Given the description of an element on the screen output the (x, y) to click on. 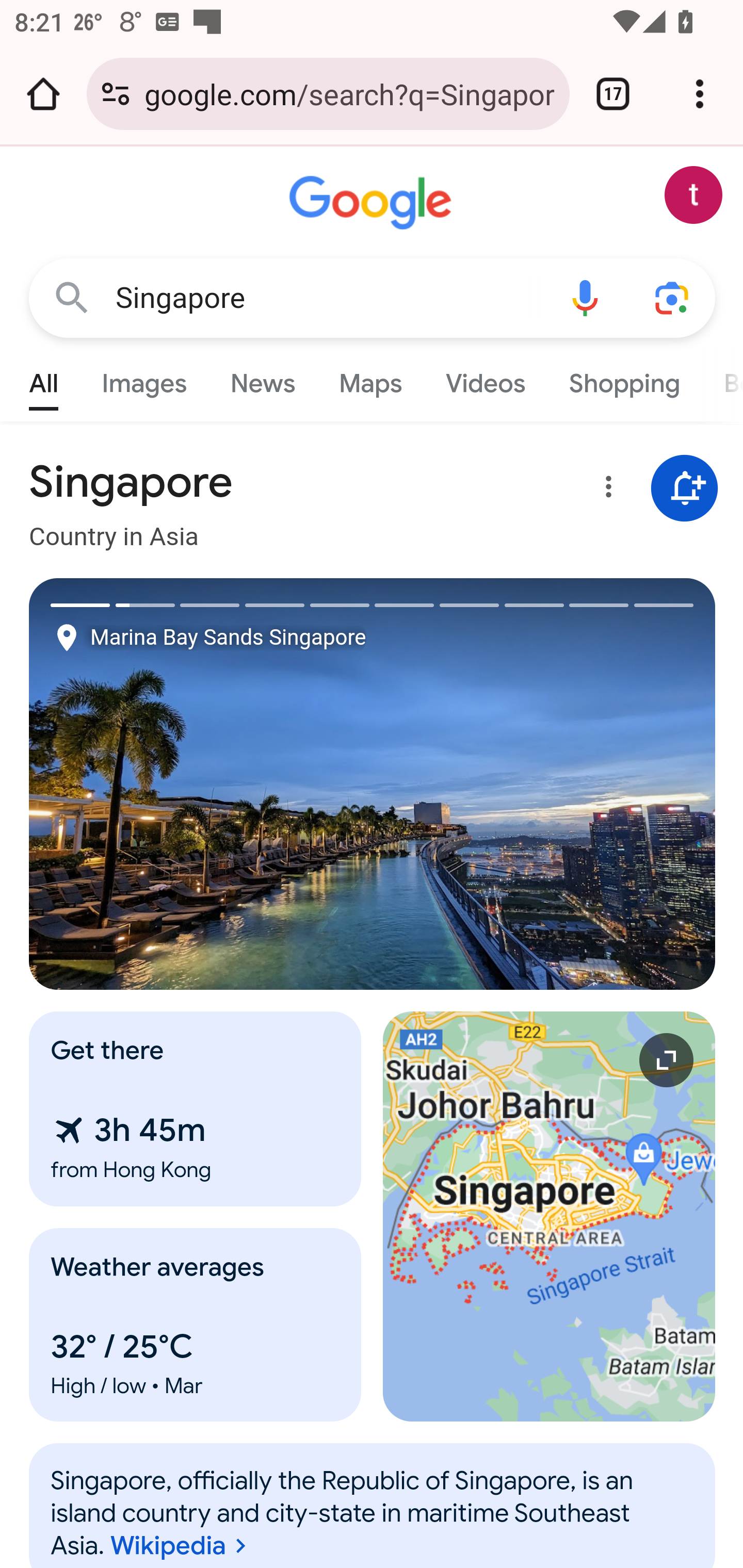
Open the home page (43, 93)
Connection is secure (115, 93)
Switch or close tabs (612, 93)
Customize and control Google Chrome (699, 93)
Google (372, 203)
Google Search (71, 296)
Search using your camera or photos (672, 296)
Singapore (328, 297)
Images (144, 378)
News (262, 378)
Maps (369, 378)
Videos (485, 378)
Shopping (623, 378)
Get notifications about Singapore (684, 489)
More options (605, 489)
Previous image (200, 783)
Next image (544, 783)
Expand map (549, 1216)
Weather averages 32° / 25°C High / low • Mar (195, 1324)
Singapore (372, 1513)
